Given the description of an element on the screen output the (x, y) to click on. 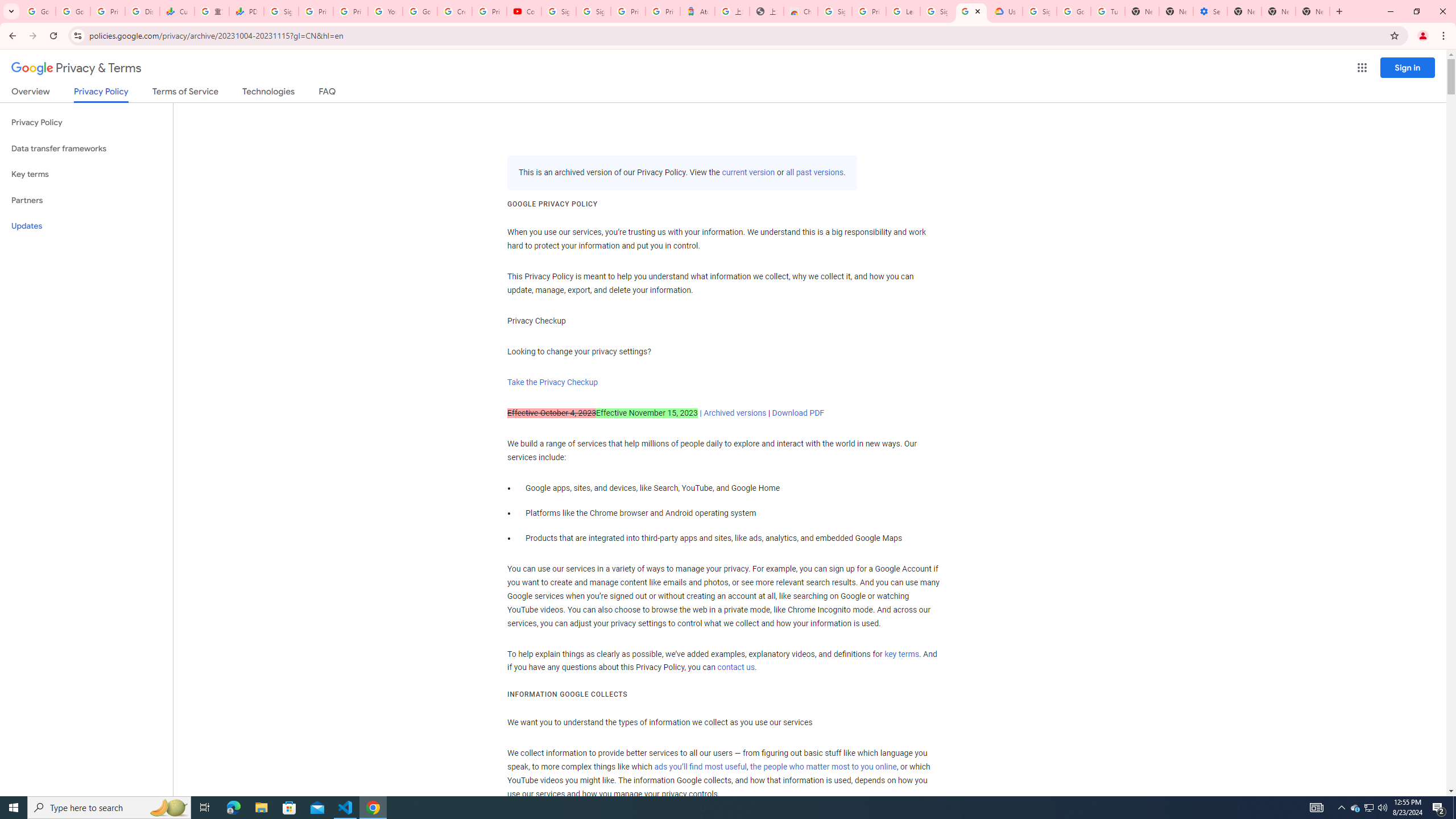
contact us (735, 667)
Sign in - Google Accounts (834, 11)
New Tab (1243, 11)
